Given the description of an element on the screen output the (x, y) to click on. 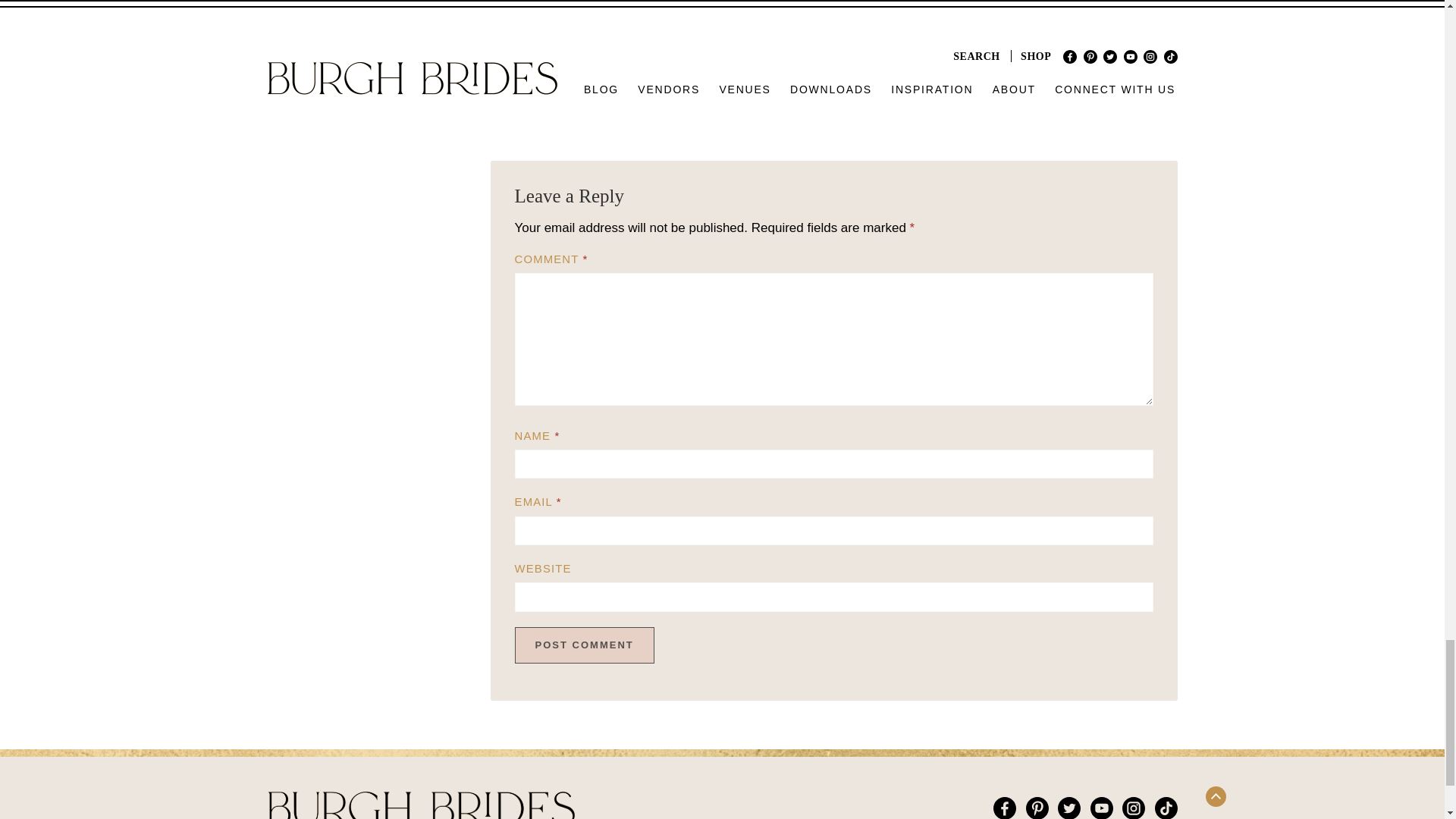
Post Comment (584, 644)
